Given the description of an element on the screen output the (x, y) to click on. 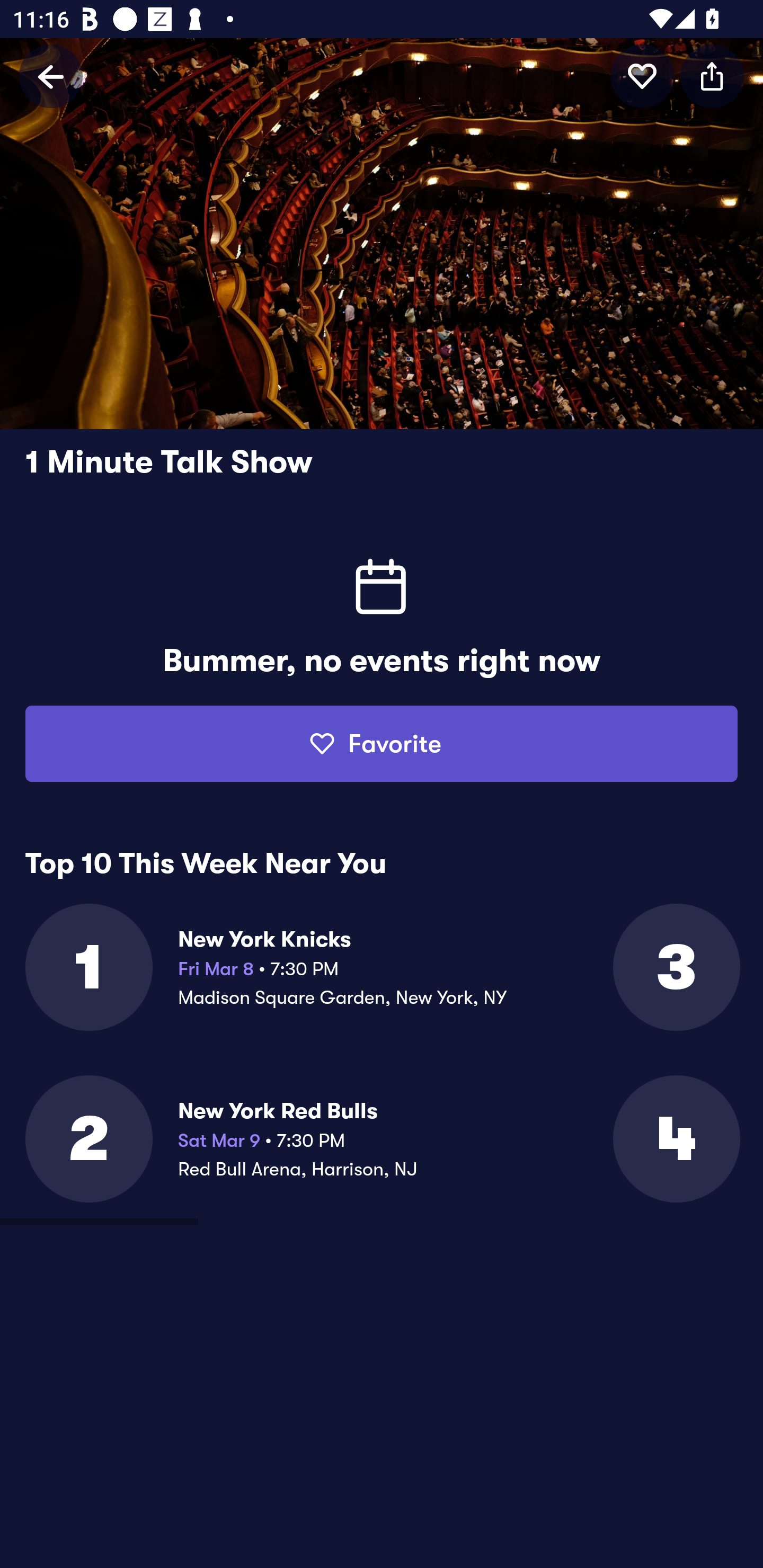
Back (50, 75)
icon button (641, 75)
icon button (711, 75)
Favorite (381, 743)
3 (675, 967)
4 (675, 1138)
